Given the description of an element on the screen output the (x, y) to click on. 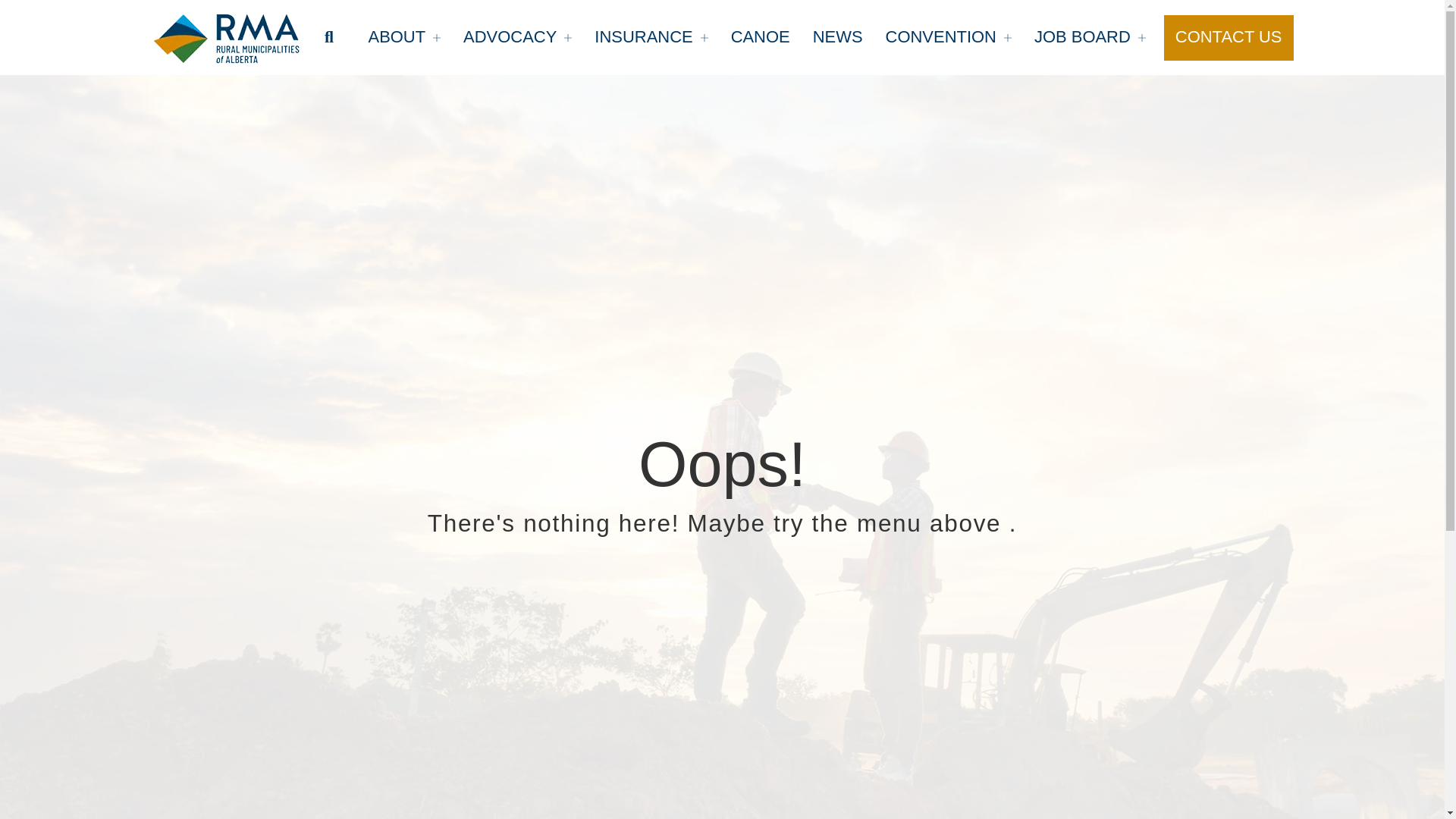
INSURANCE (651, 37)
ABOUT (403, 37)
ADVOCACY (517, 37)
